Given the description of an element on the screen output the (x, y) to click on. 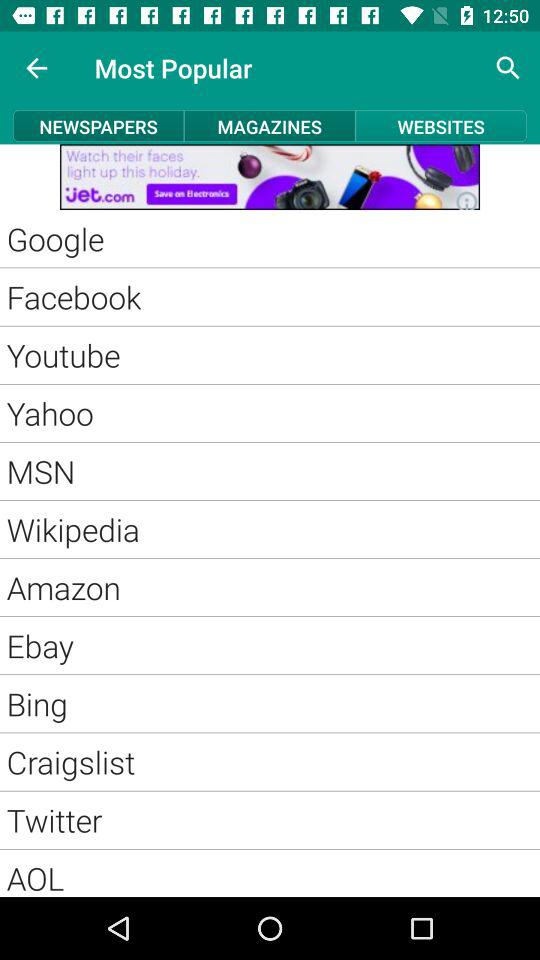
start to search (508, 67)
